Given the description of an element on the screen output the (x, y) to click on. 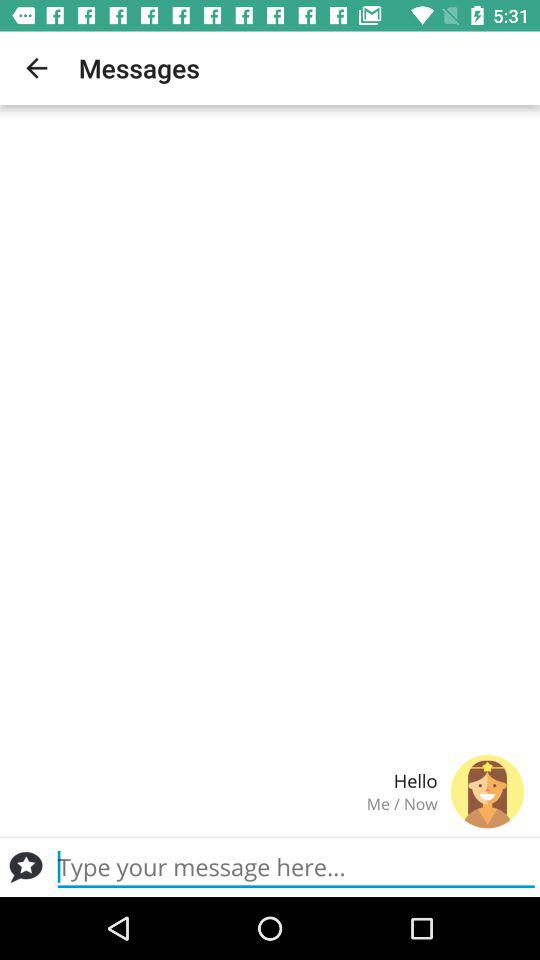
press me / now (226, 803)
